Given the description of an element on the screen output the (x, y) to click on. 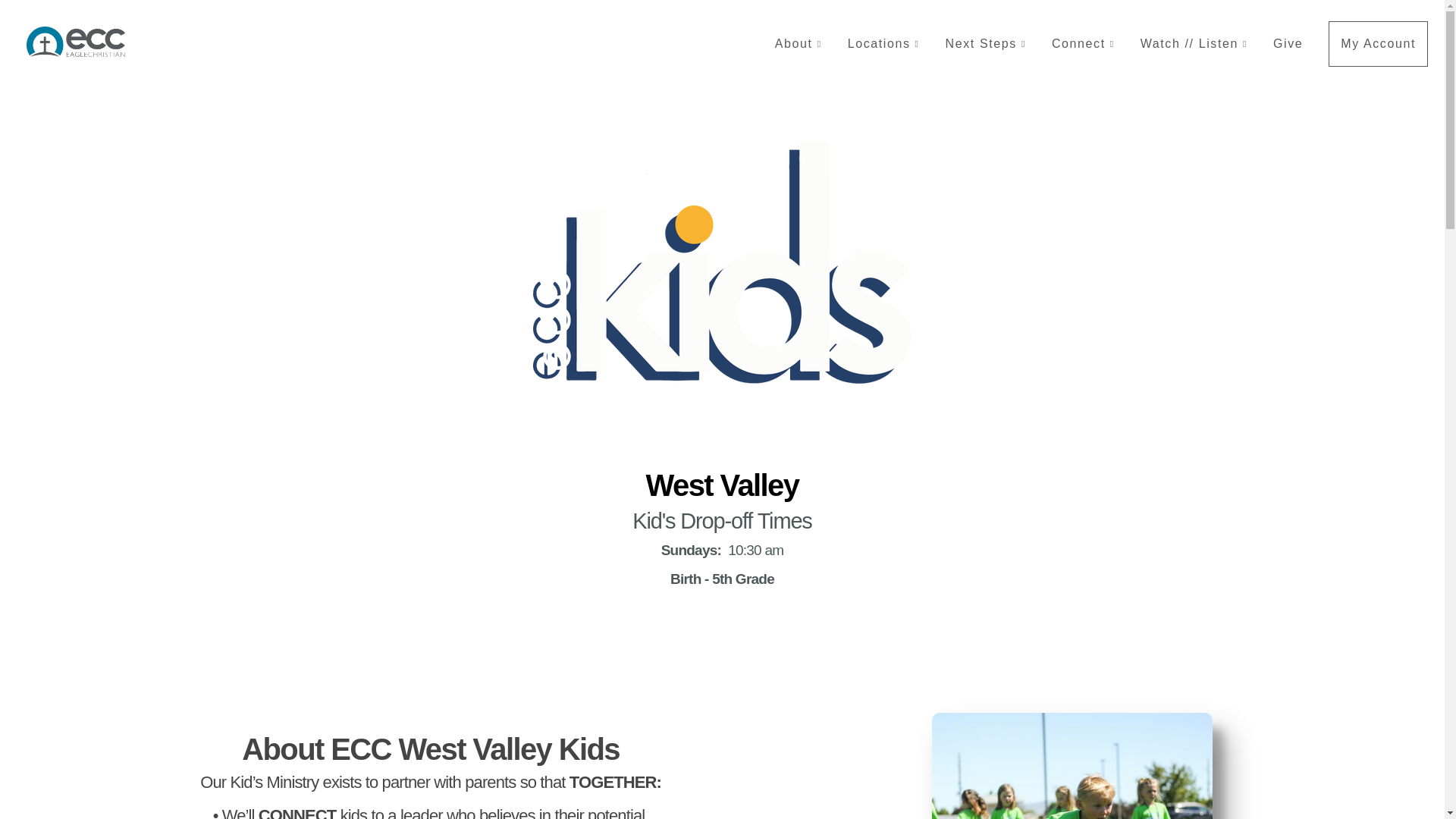
CURRICULUM (780, 653)
My Account (1377, 43)
Locations  (883, 44)
About  (797, 44)
Give (1288, 44)
EVENTS (985, 653)
Connect  (1083, 44)
FIRST TIME (547, 653)
CHECK-IN (314, 653)
Next Steps  (985, 44)
